Given the description of an element on the screen output the (x, y) to click on. 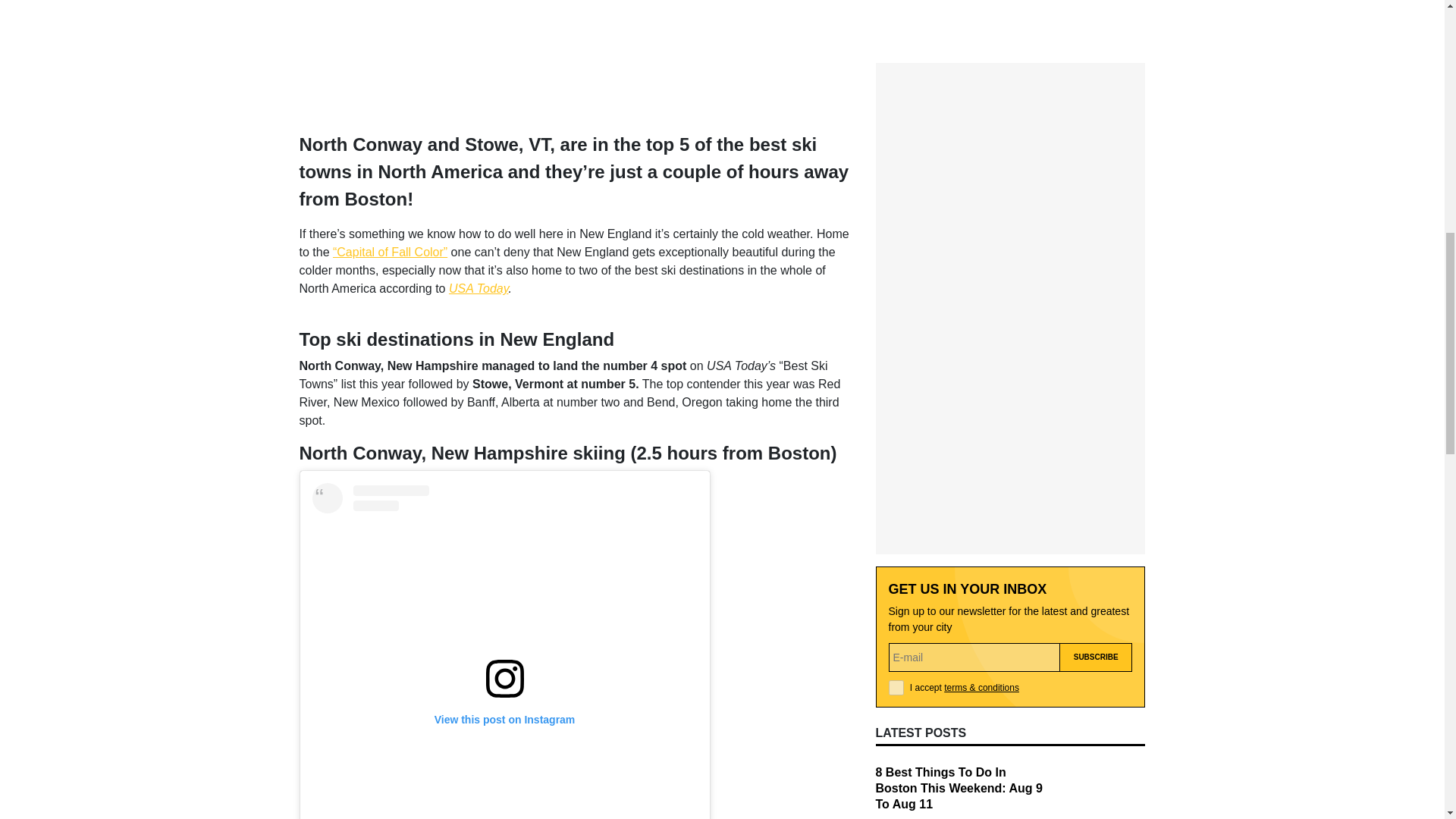
AUGUST 8, 2024 (910, 743)
View this post on Instagram (505, 651)
1 (896, 371)
8 Best Things To Do In Boston This Weekend: Aug 9 To Aug 11 (958, 472)
AUGUST 9, 2024 (910, 512)
Subscribe (1095, 340)
USA Today (478, 287)
AUGUST 8, 2024 (910, 628)
Subscribe (1095, 340)
